Given the description of an element on the screen output the (x, y) to click on. 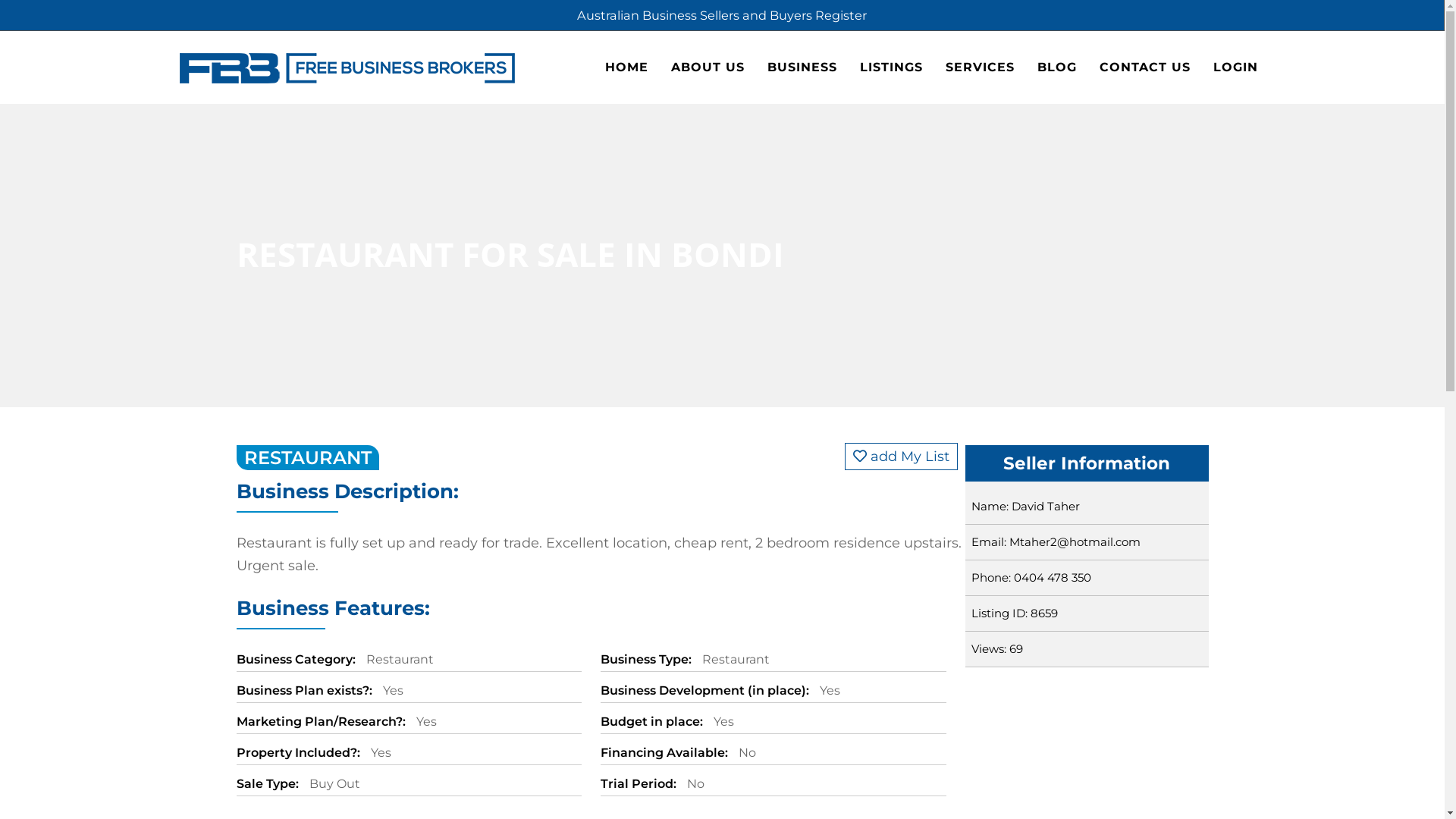
LOGIN Element type: text (1234, 67)
BUSINESS Element type: text (801, 67)
LISTINGS Element type: text (890, 67)
BLOG Element type: text (1056, 67)
CONTACT US Element type: text (1144, 67)
SERVICES Element type: text (980, 67)
ABOUT US Element type: text (707, 67)
add My List Element type: text (900, 456)
HOME Element type: text (625, 67)
Business Broker Element type: hover (346, 66)
